Given the description of an element on the screen output the (x, y) to click on. 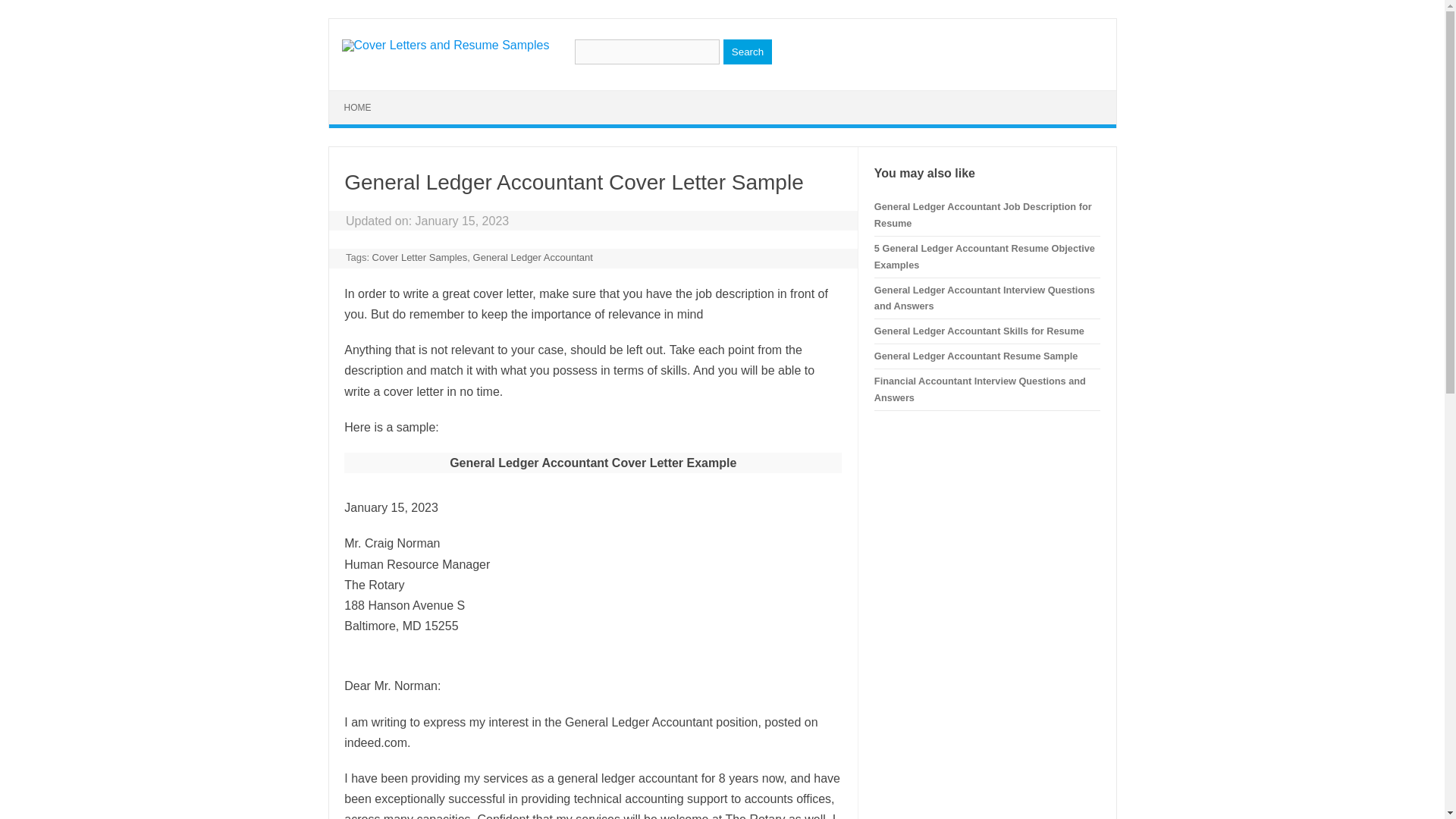
General Ledger Accountant (532, 256)
General Ledger Accountant Skills for Resume (979, 330)
Cover Letters and Resume Samples (444, 44)
HOME (358, 107)
General Ledger Accountant Interview Questions and Answers (984, 297)
Cover Letter Samples (419, 256)
Financial Accountant Interview Questions and Answers (980, 389)
General Ledger Accountant Resume Sample (976, 355)
Search (747, 51)
